Given the description of an element on the screen output the (x, y) to click on. 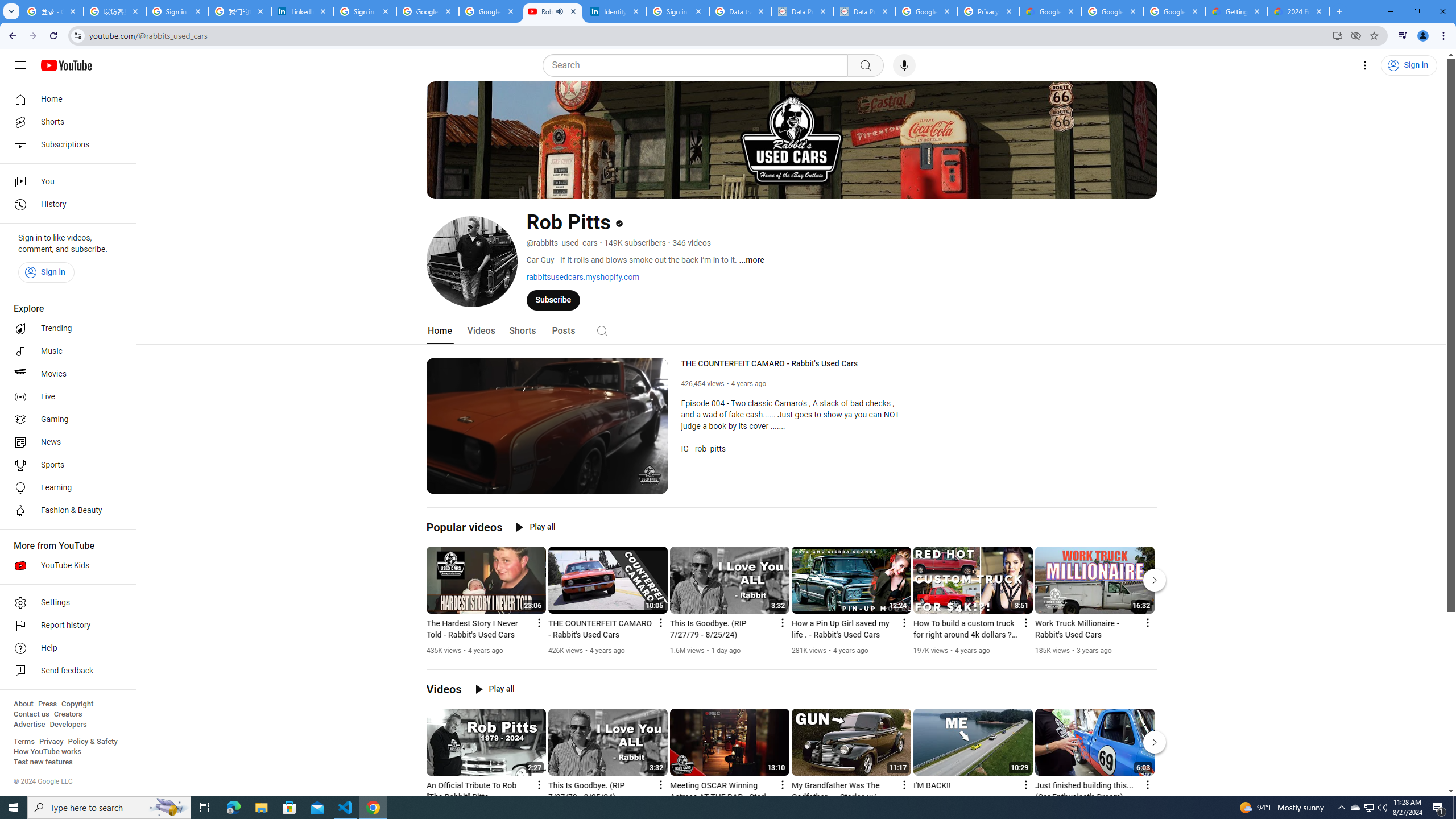
Full screen (f) (650, 483)
Send feedback (64, 671)
Posts (562, 330)
Subscribe (552, 299)
Google Workspace - Specific Terms (1174, 11)
Identity verification via Persona | LinkedIn Help (615, 11)
Live (64, 396)
Sign in - Google Accounts (177, 11)
Report history (64, 625)
Settings (629, 483)
Privacy (51, 741)
